Given the description of an element on the screen output the (x, y) to click on. 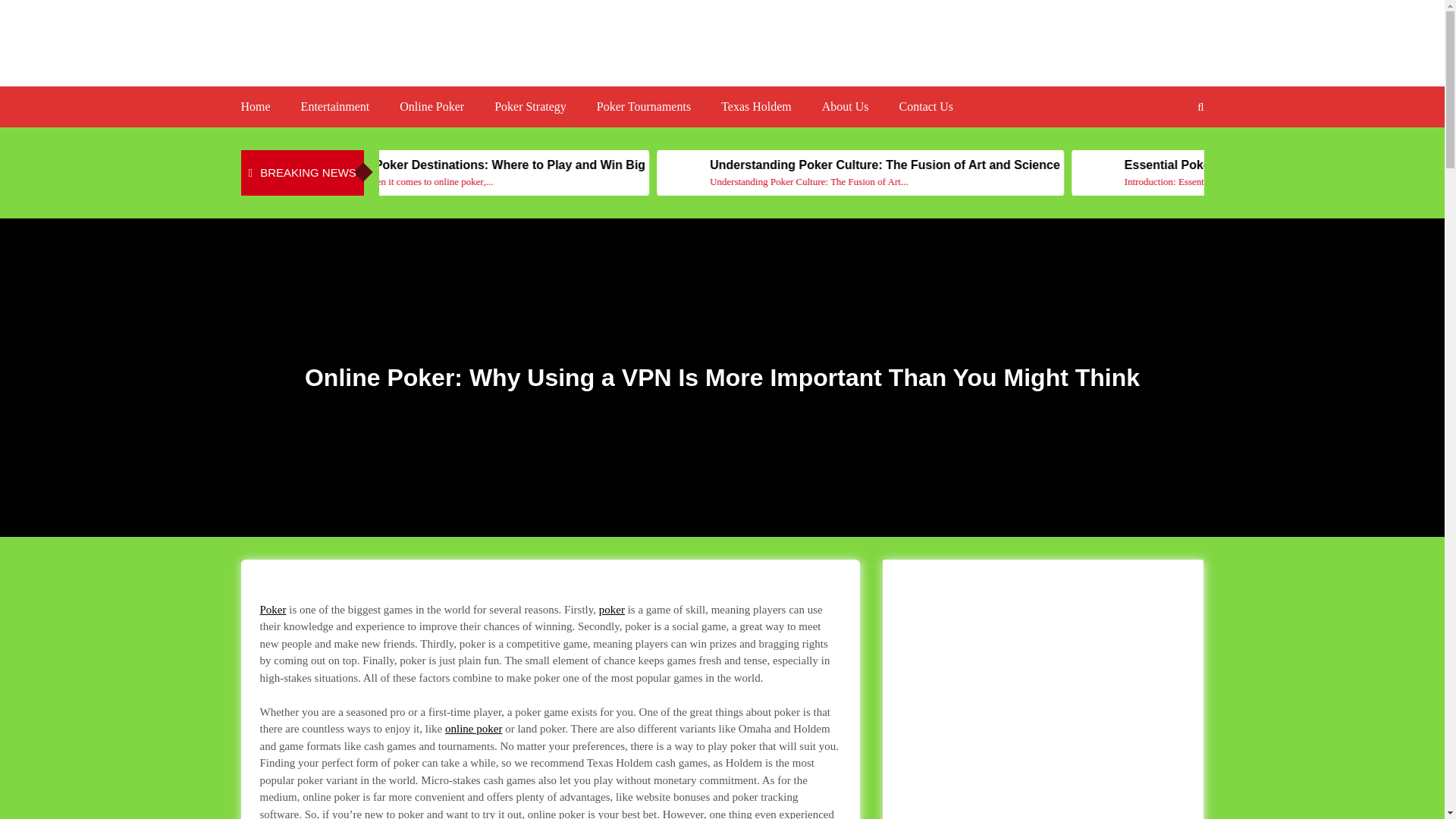
poker (611, 609)
Poker Tournaments (643, 106)
Poker (272, 609)
Online Poker (431, 106)
Poker-E-Wins (389, 74)
Poker Strategy (530, 106)
online poker (473, 728)
Contact Us (926, 106)
Home (255, 106)
Entertainment (335, 106)
Texas Holdem (756, 106)
About Us (845, 106)
